Given the description of an element on the screen output the (x, y) to click on. 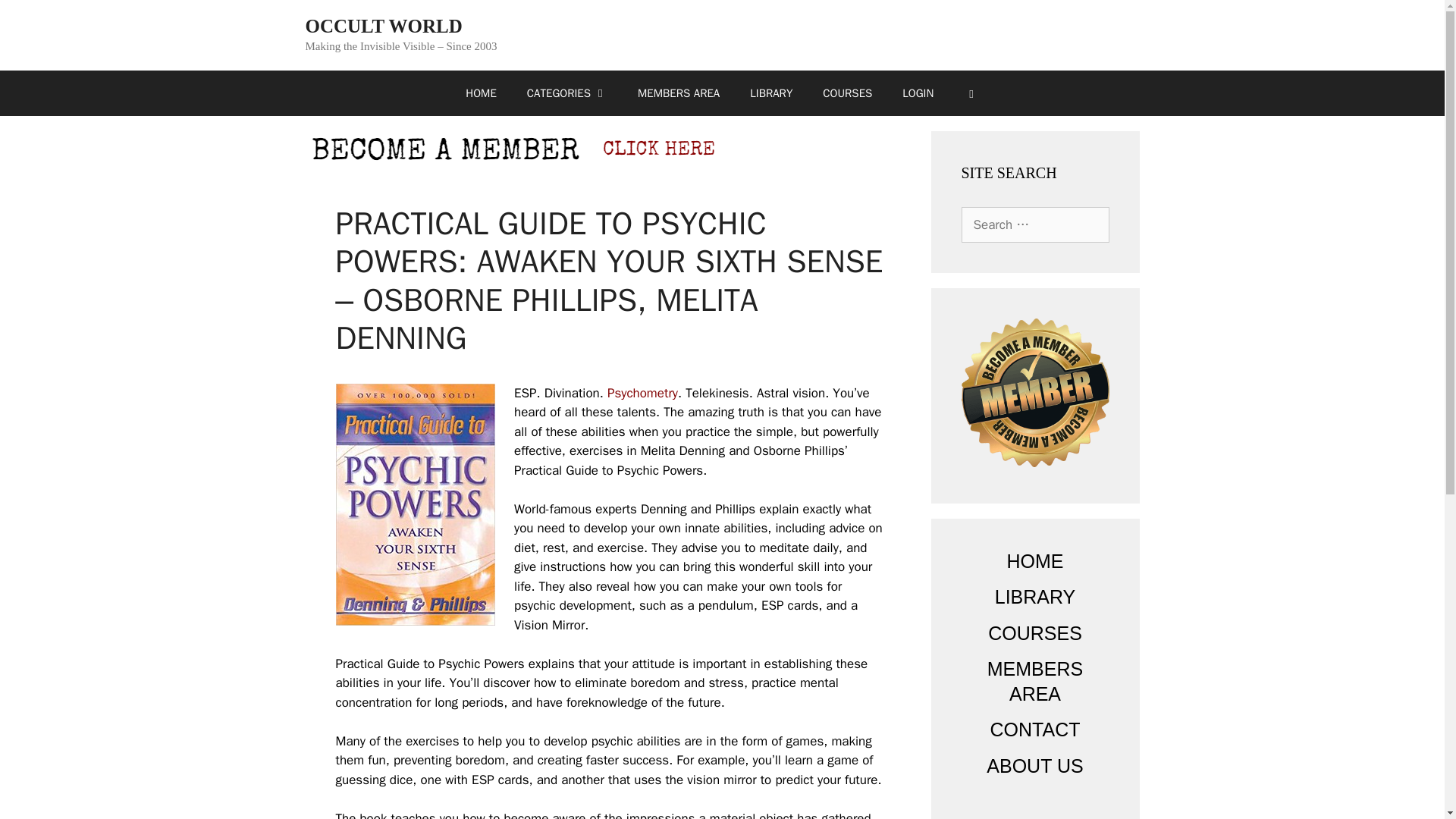
CATEGORIES (567, 92)
Search for: (1034, 224)
HOME (480, 92)
OCCULT WORLD (382, 25)
